Given the description of an element on the screen output the (x, y) to click on. 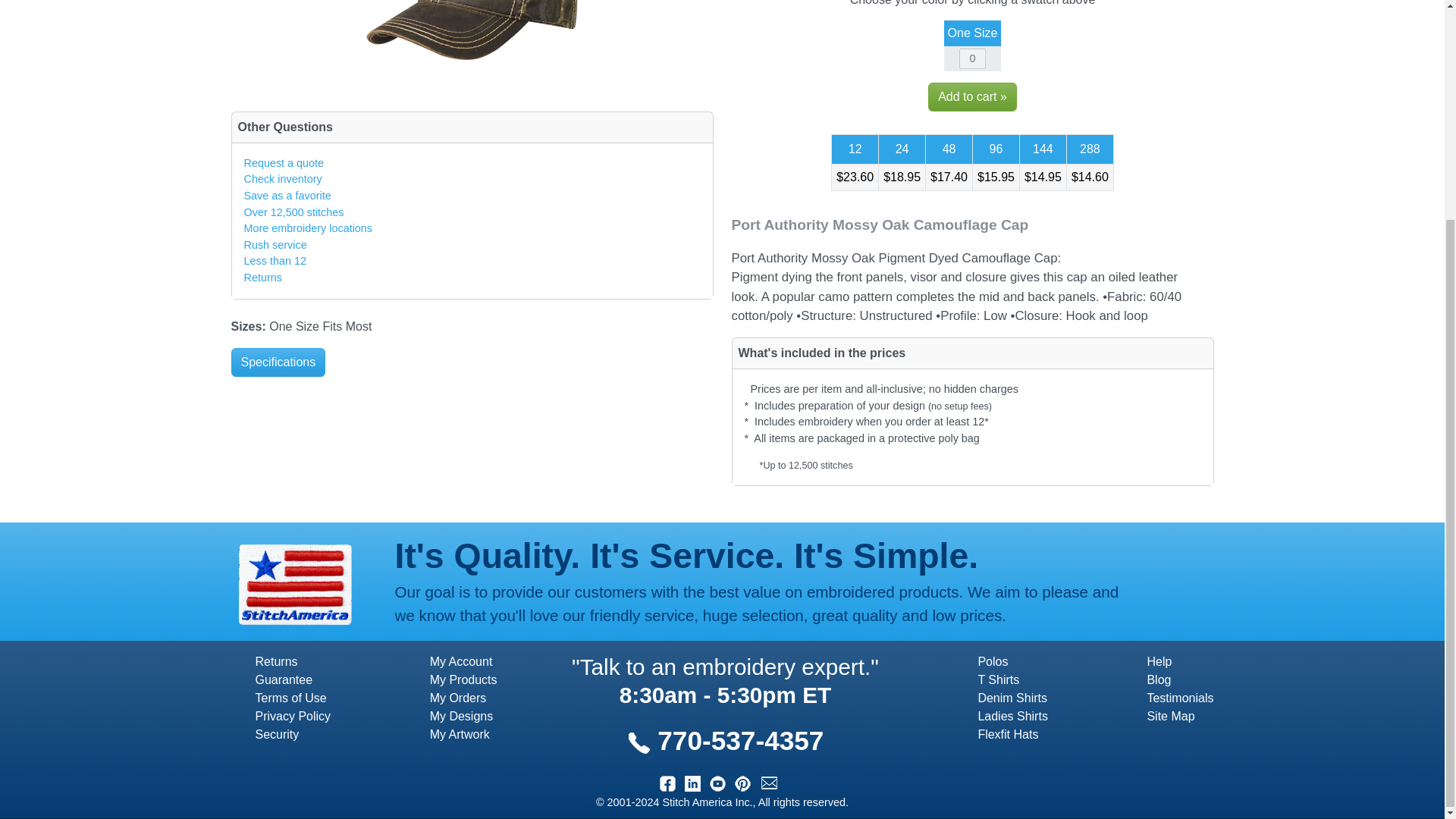
Enter quantity to add (972, 58)
